Given the description of an element on the screen output the (x, y) to click on. 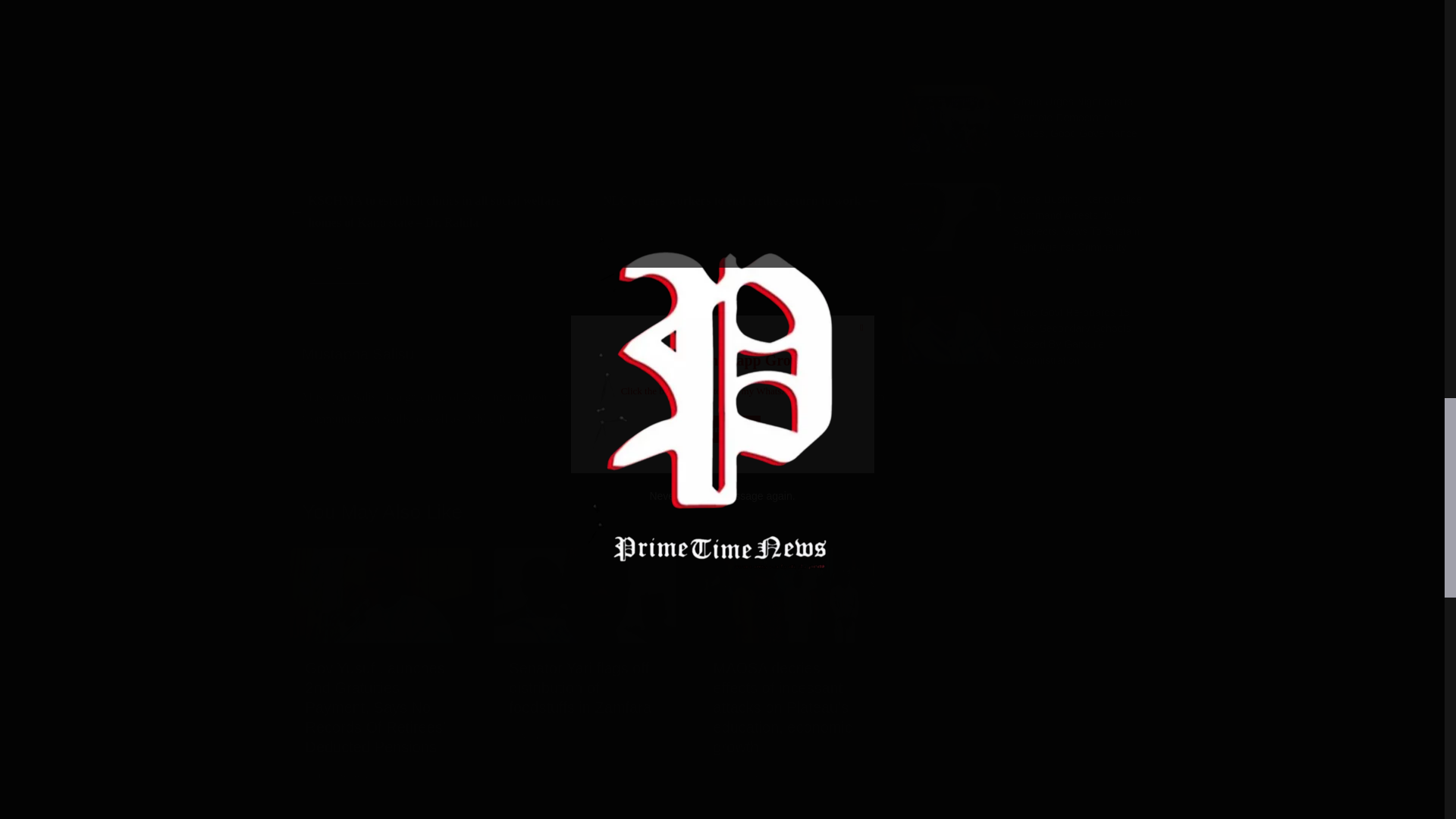
June 29, 2024 (336, 777)
NLC orders workers to end strike, return to work (740, 201)
September 18, 2023 (755, 777)
March 13, 2024 (544, 737)
4:41 pm (336, 777)
Senator Yari flags off distribution of foodstuffs in Zamfara (585, 558)
Senator Yari flags off distribution of foodstuffs in Zamfara (580, 687)
Advertisement (584, 83)
